Given the description of an element on the screen output the (x, y) to click on. 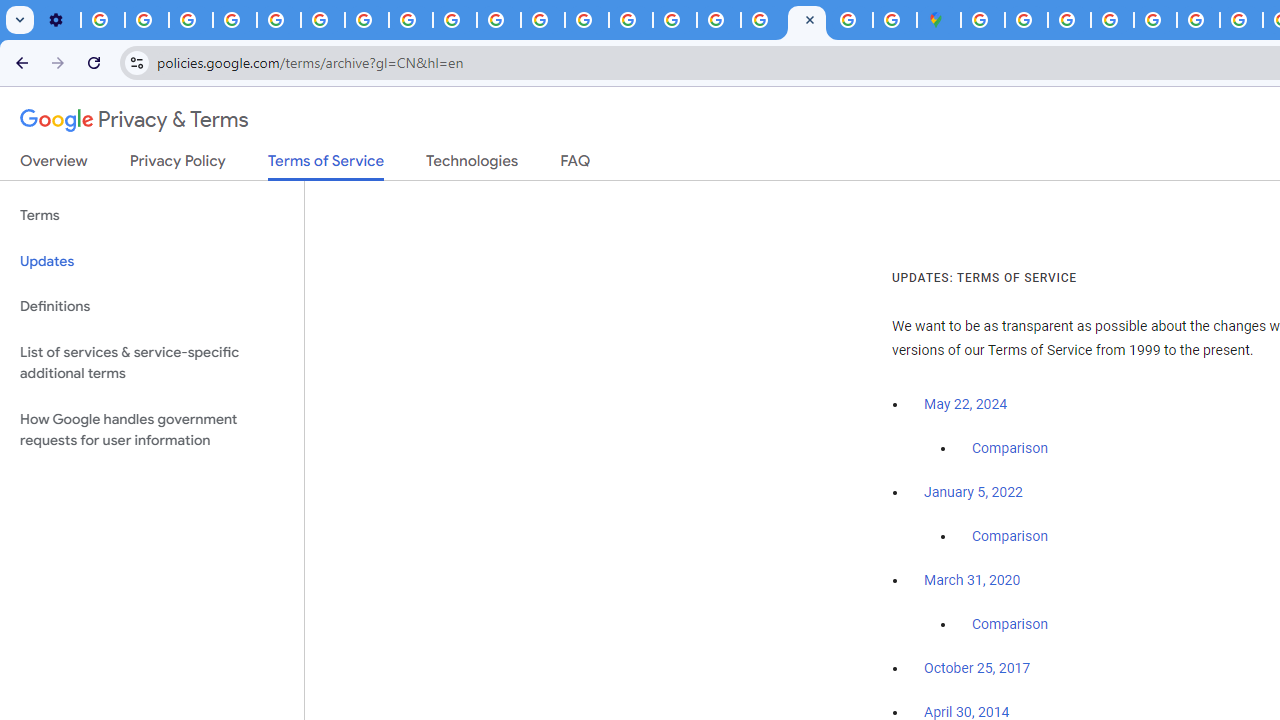
Privacy Checkup (498, 20)
Definitions (152, 306)
Delete photos & videos - Computer - Google Photos Help (102, 20)
Privacy Help Center - Policies Help (278, 20)
October 25, 2017 (977, 669)
